Given the description of an element on the screen output the (x, y) to click on. 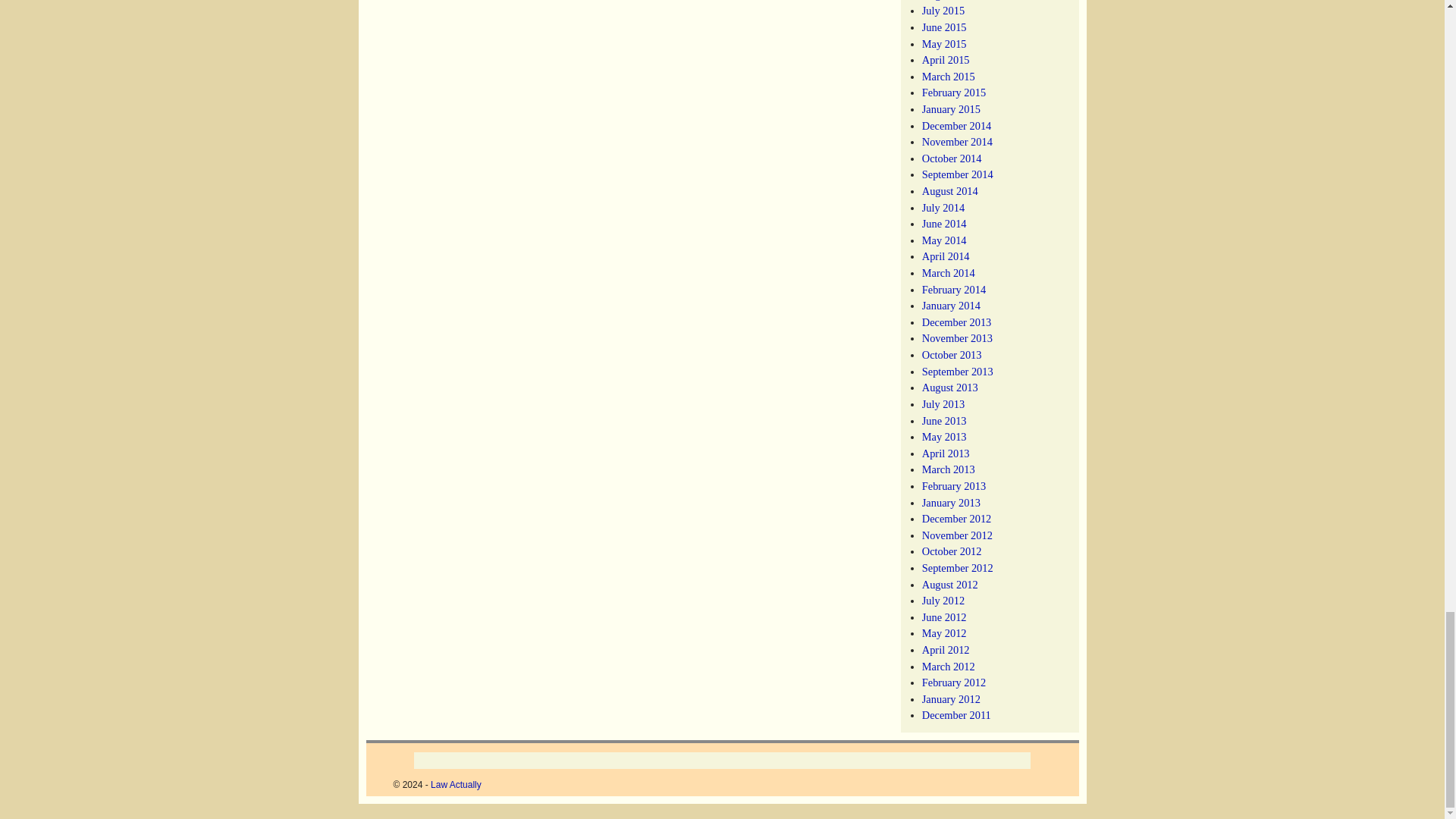
Law Actually (455, 784)
